Given the description of an element on the screen output the (x, y) to click on. 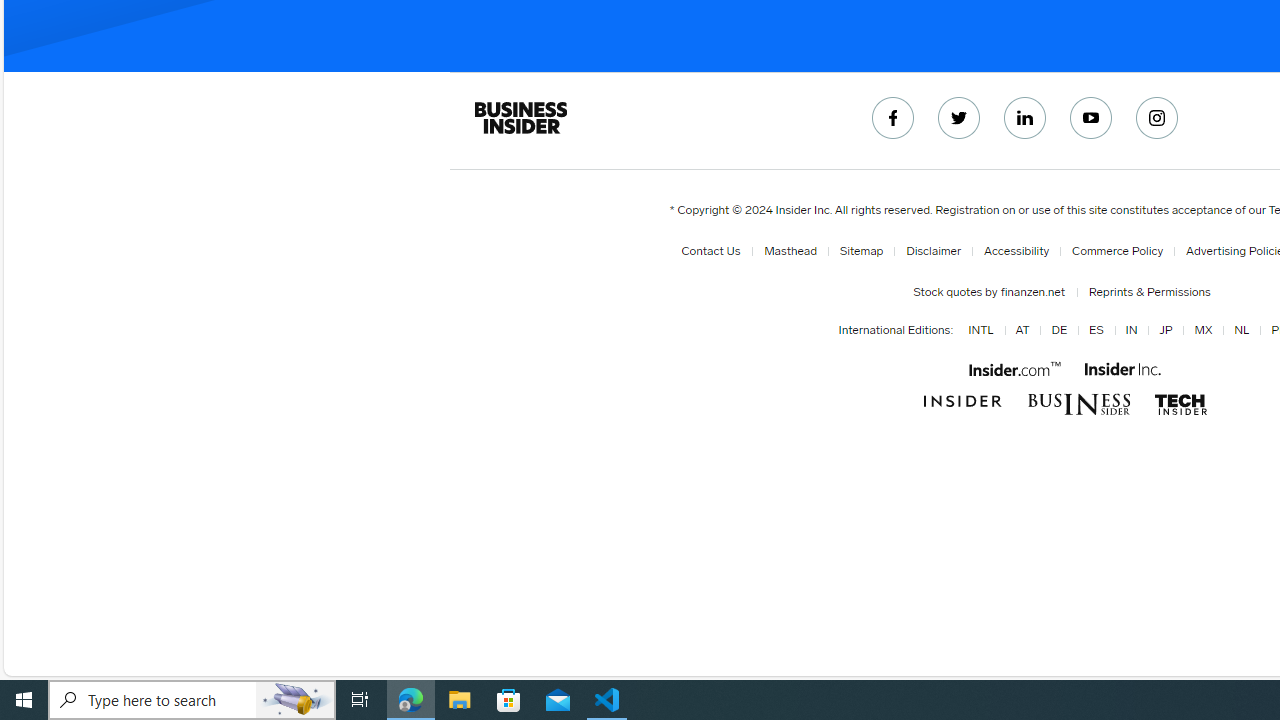
Connect with us on LinkedIn (1025, 117)
